Given the description of an element on the screen output the (x, y) to click on. 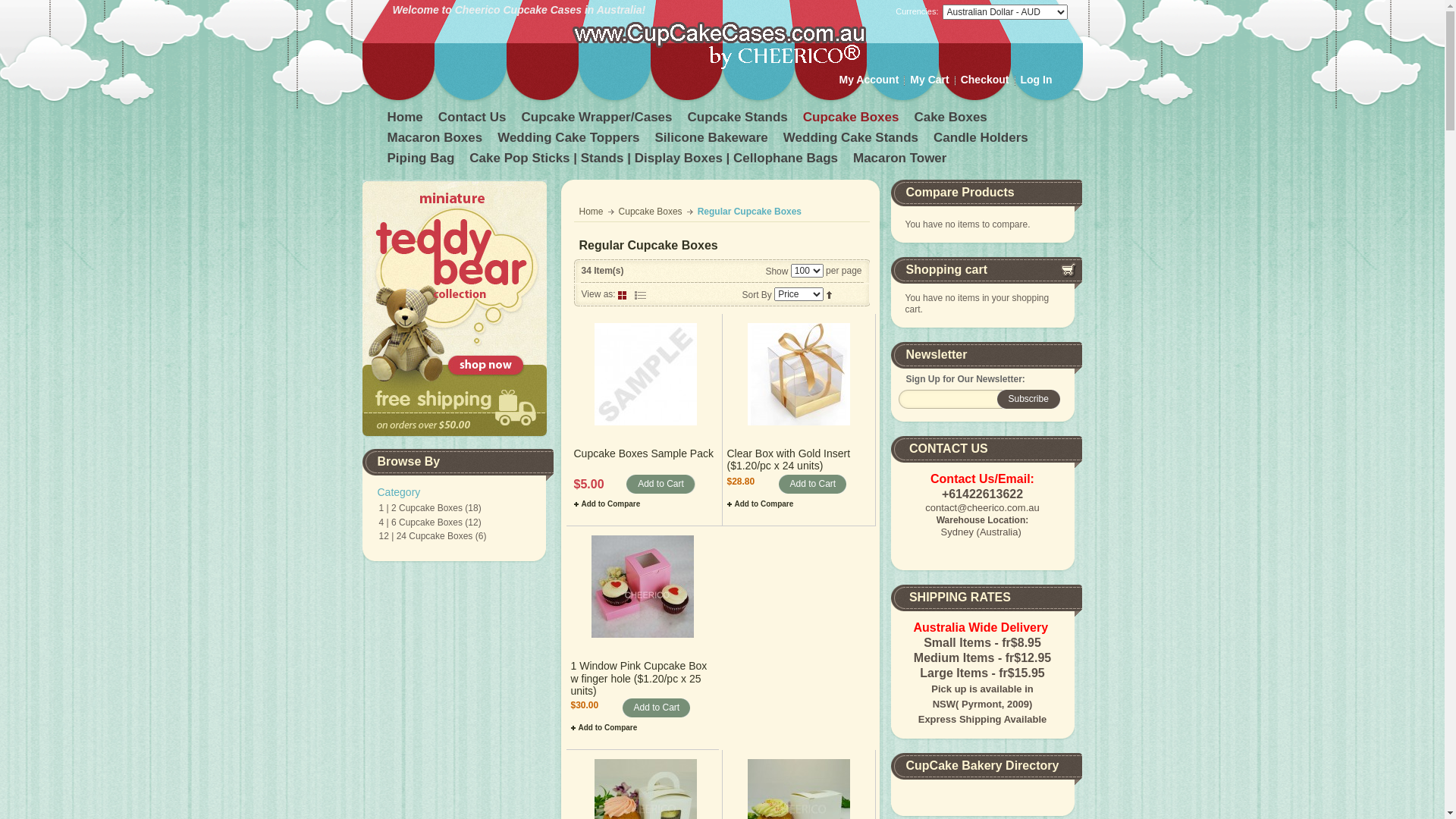
Home Element type: text (592, 211)
Cupcake Stands Element type: text (739, 119)
Home Element type: text (405, 119)
Add to Compare Element type: text (606, 503)
Add to Compare Element type: text (759, 503)
Subscribe Element type: text (1027, 398)
List Element type: hover (640, 293)
4 | 6 Cupcake Boxes Element type: text (421, 522)
Cake Pop Sticks | Stands | Display Boxes | Cellophane Bags Element type: text (655, 160)
Add to Cart Element type: text (660, 483)
Cupcake Boxes Element type: text (852, 119)
Clear Box with Gold Insert ($1.20/pc x 24 units) Element type: text (788, 459)
Add to Compare Element type: text (603, 727)
Wedding Cake Toppers Element type: text (569, 139)
  Element type: text (640, 293)
Add to Cart Element type: text (655, 707)
Cupcake Boxes Element type: text (651, 211)
Contact Us Element type: text (473, 119)
Sign up for our newsletter Element type: hover (954, 398)
Wedding Cake Stands Element type: text (852, 139)
My Account Element type: text (869, 79)
Piping Bag Element type: text (421, 160)
Cupcake Boxes Sample Pack Element type: text (642, 453)
Cupcake Boxes Sample Pack Element type: hover (645, 374)
Candle Holders Element type: text (982, 139)
Checkout Element type: text (984, 79)
Log In Element type: text (1036, 79)
My Cart Element type: text (929, 79)
Grid Element type: hover (623, 293)
Macaron Boxes Element type: text (435, 139)
1 | 2 Cupcake Boxes Element type: text (421, 507)
Cake Boxes Element type: text (951, 119)
Macaron Tower Element type: text (901, 160)
Set Descending Direction Element type: hover (828, 293)
Clear Box with Gold Insert ($1.20/pc x 24 units) Element type: hover (798, 374)
Silicone Bakeware Element type: text (713, 139)
Cupcake Wrapper/Cases Element type: text (597, 119)
Add to Cart Element type: text (812, 483)
12 | 24 Cupcake Boxes Element type: text (426, 535)
